Given the description of an element on the screen output the (x, y) to click on. 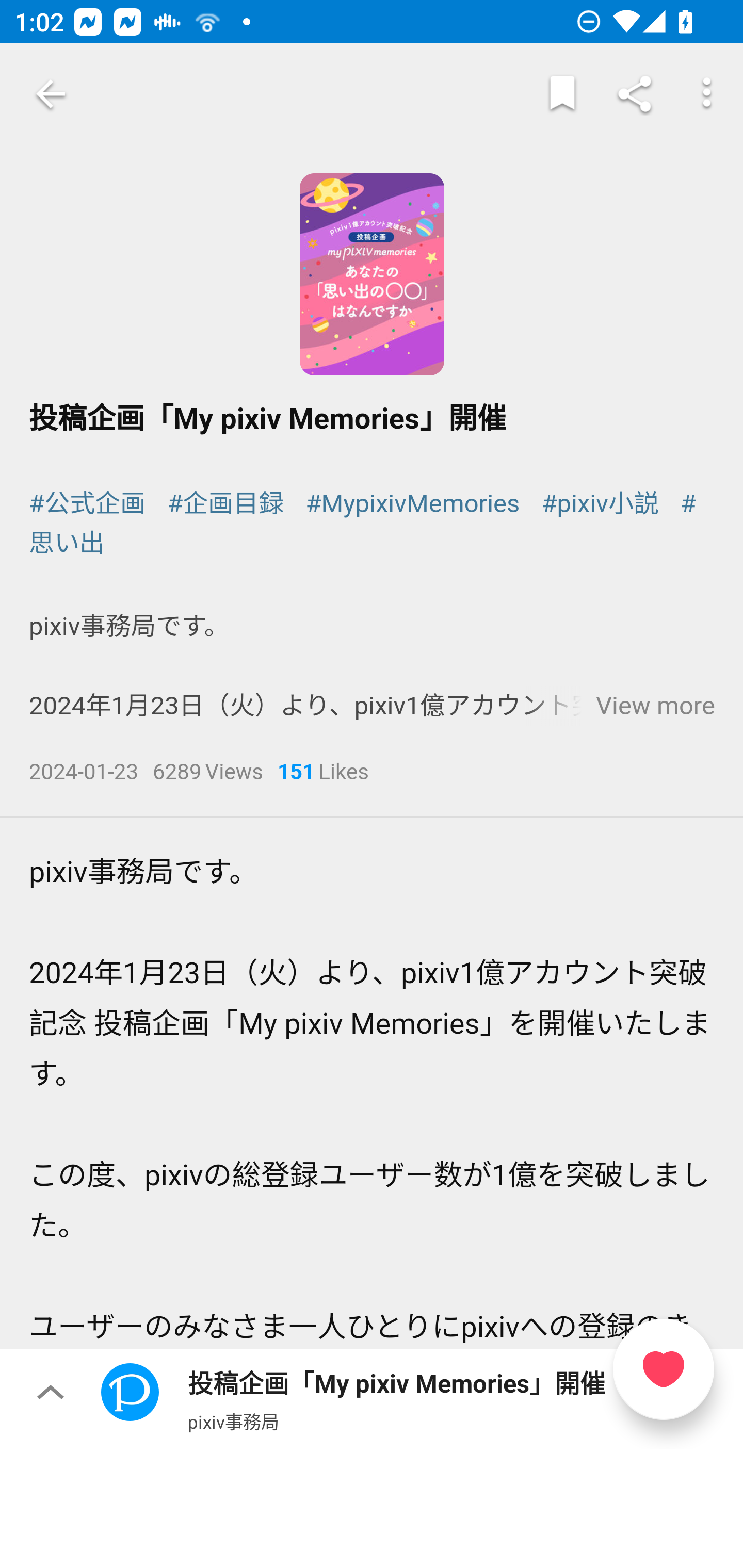
Navigate up (50, 93)
Markers (562, 93)
Share (634, 93)
More options (706, 93)
#公式企画 (87, 503)
#思い出 (362, 523)
#企画目録 (225, 503)
#MypixivMemories (412, 503)
#pixiv小説 (599, 503)
View more (654, 706)
151Likes (323, 773)
pixiv事務局 (233, 1421)
